Given the description of an element on the screen output the (x, y) to click on. 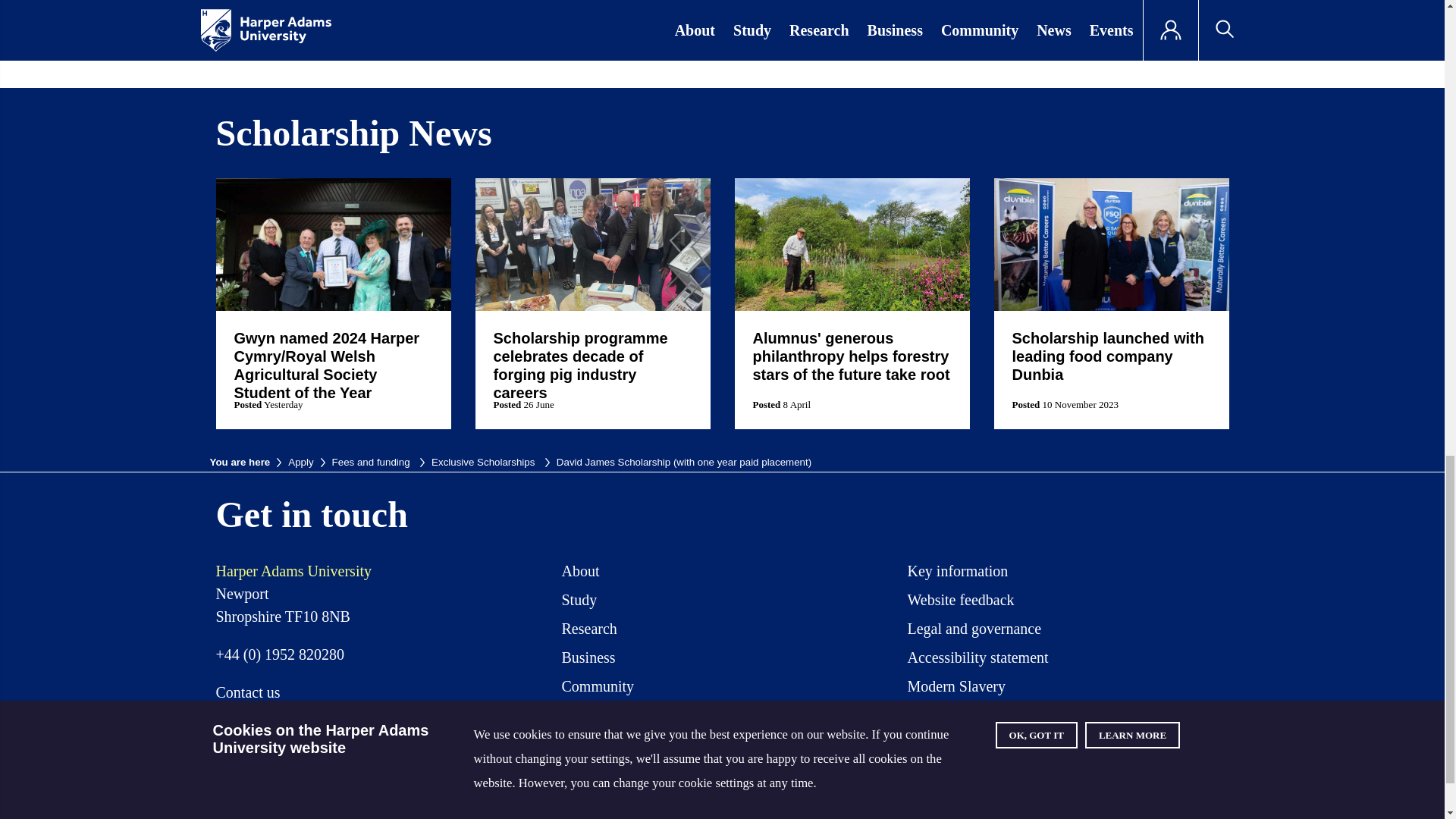
Facebook - opens in a new window (989, 770)
X - opens in a new window (932, 770)
LinkedIn - opens in a new window (1157, 770)
Instagram - opens in a new window (1044, 770)
Vimeo - opens in a new window (1101, 770)
Modern Slavery Act PDF - opens in a new window (955, 688)
